Given the description of an element on the screen output the (x, y) to click on. 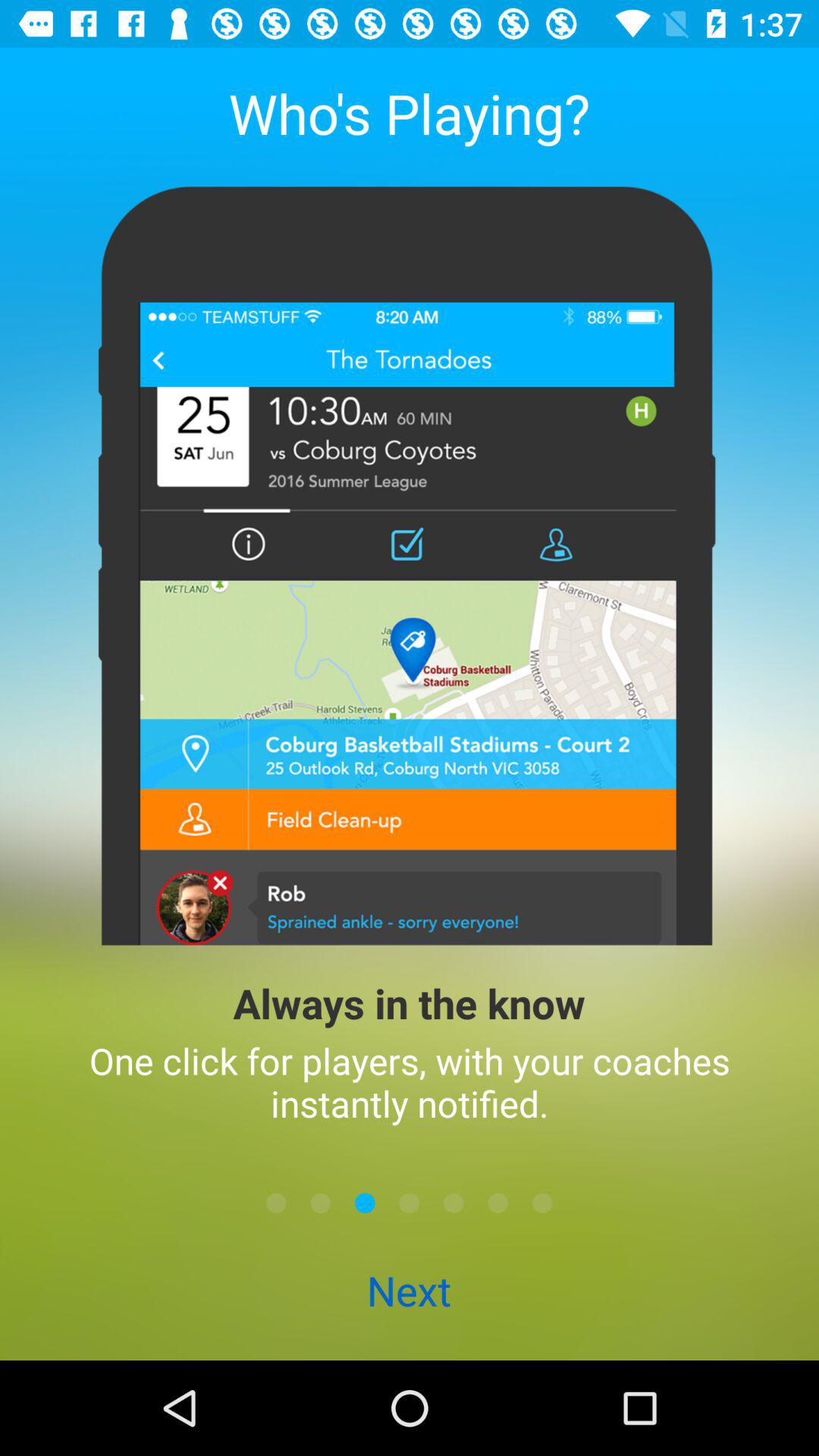
launch the item above the next item (364, 1203)
